Given the description of an element on the screen output the (x, y) to click on. 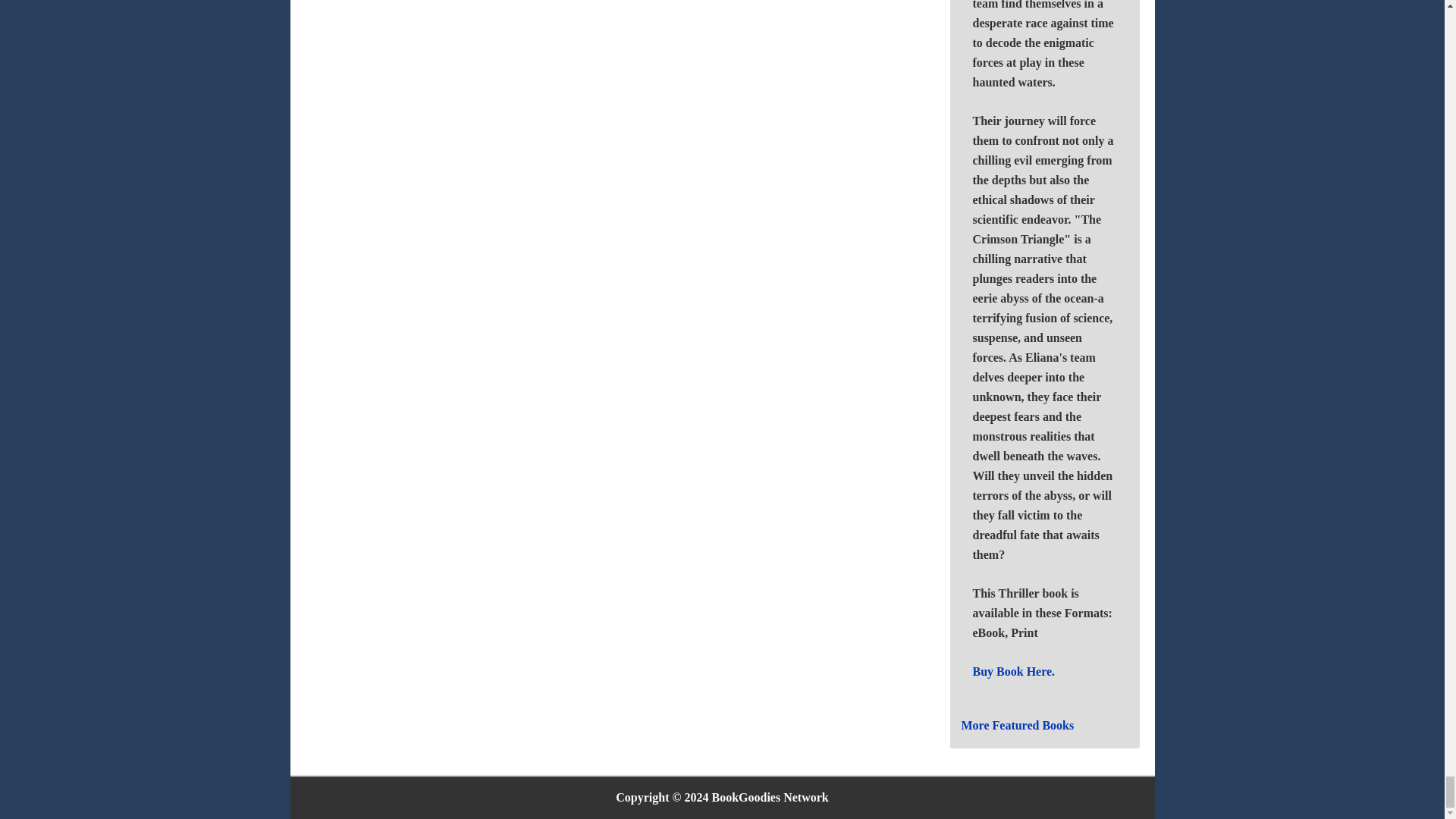
Features (1017, 725)
